Given the description of an element on the screen output the (x, y) to click on. 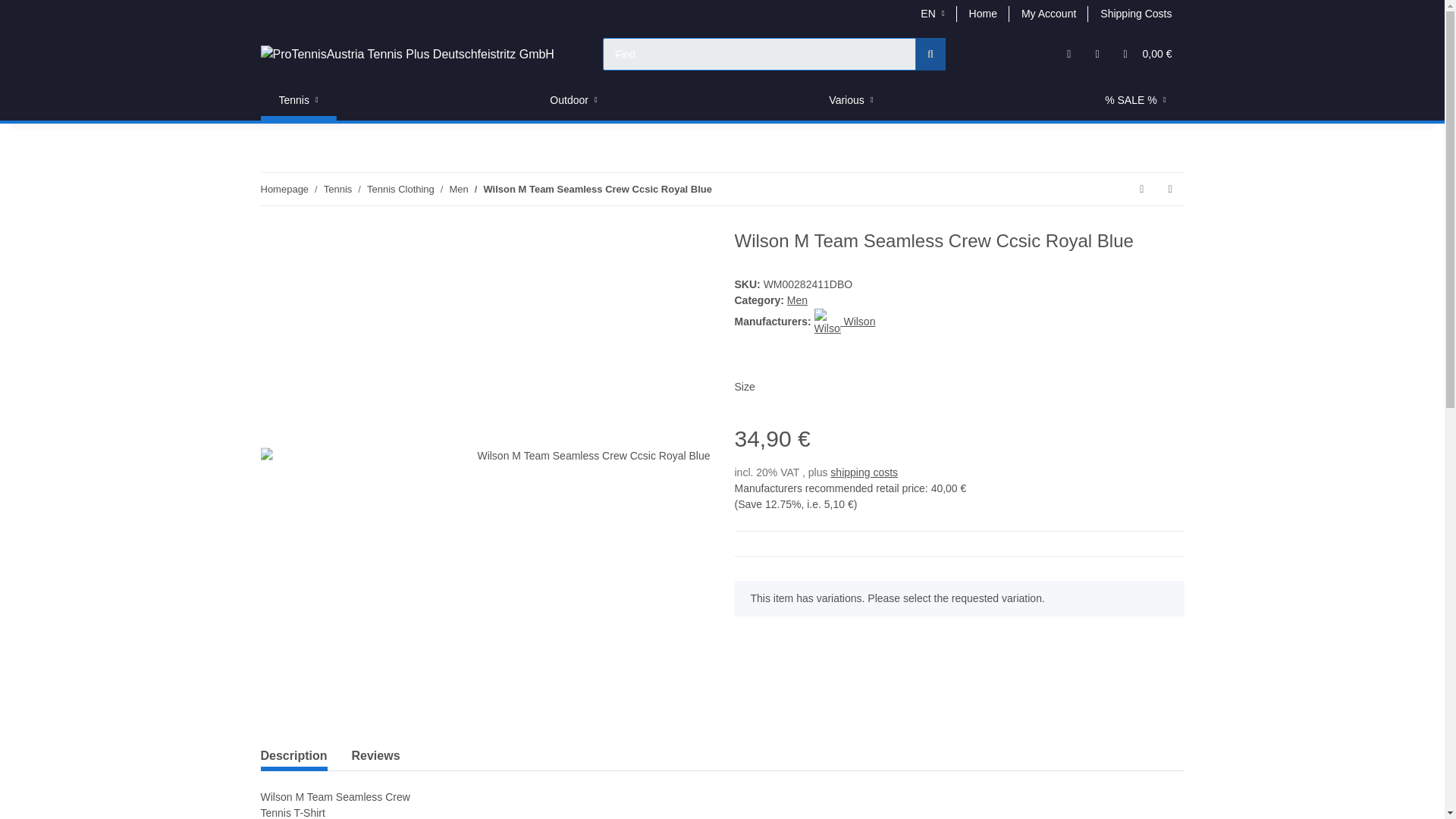
Tennis (337, 189)
My Account (1048, 13)
Tennis (298, 100)
Various (850, 100)
Outdoor (572, 100)
Shipping Costs Overview (1135, 13)
Home (982, 13)
Tennis Clothing (399, 189)
Outdoor (572, 100)
Tennis (298, 100)
